Given the description of an element on the screen output the (x, y) to click on. 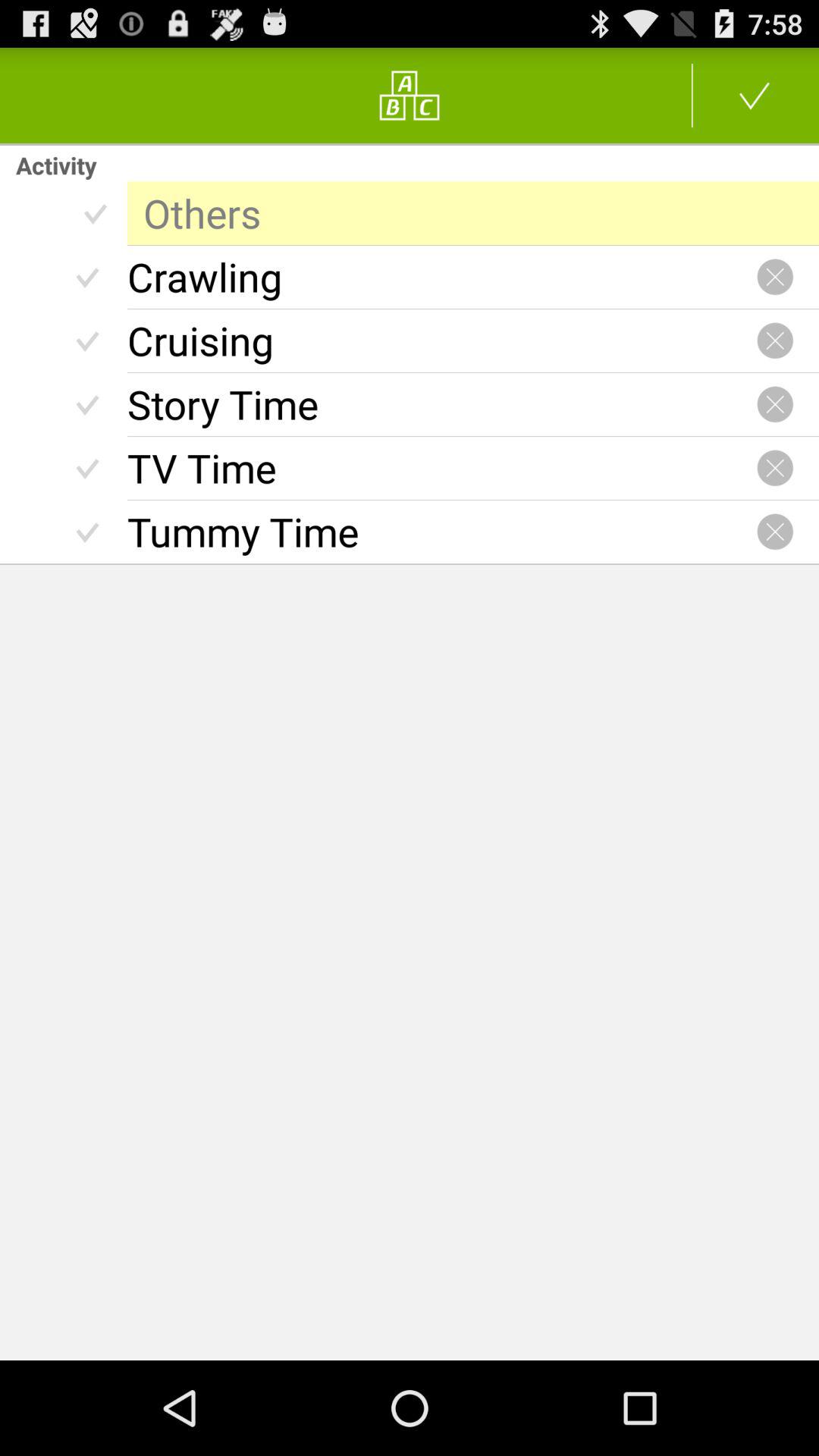
go to close (775, 276)
